Given the description of an element on the screen output the (x, y) to click on. 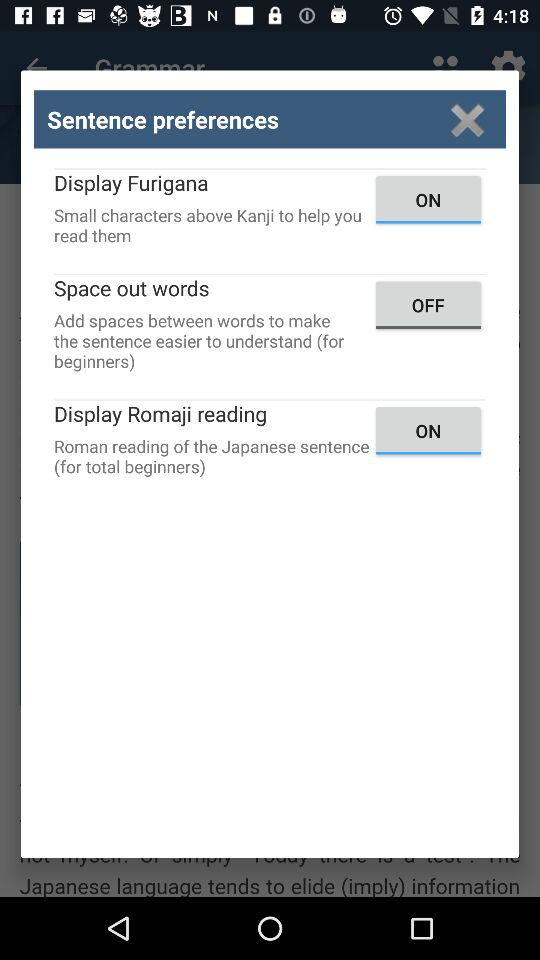
choose item above display romaji reading icon (427, 304)
